Given the description of an element on the screen output the (x, y) to click on. 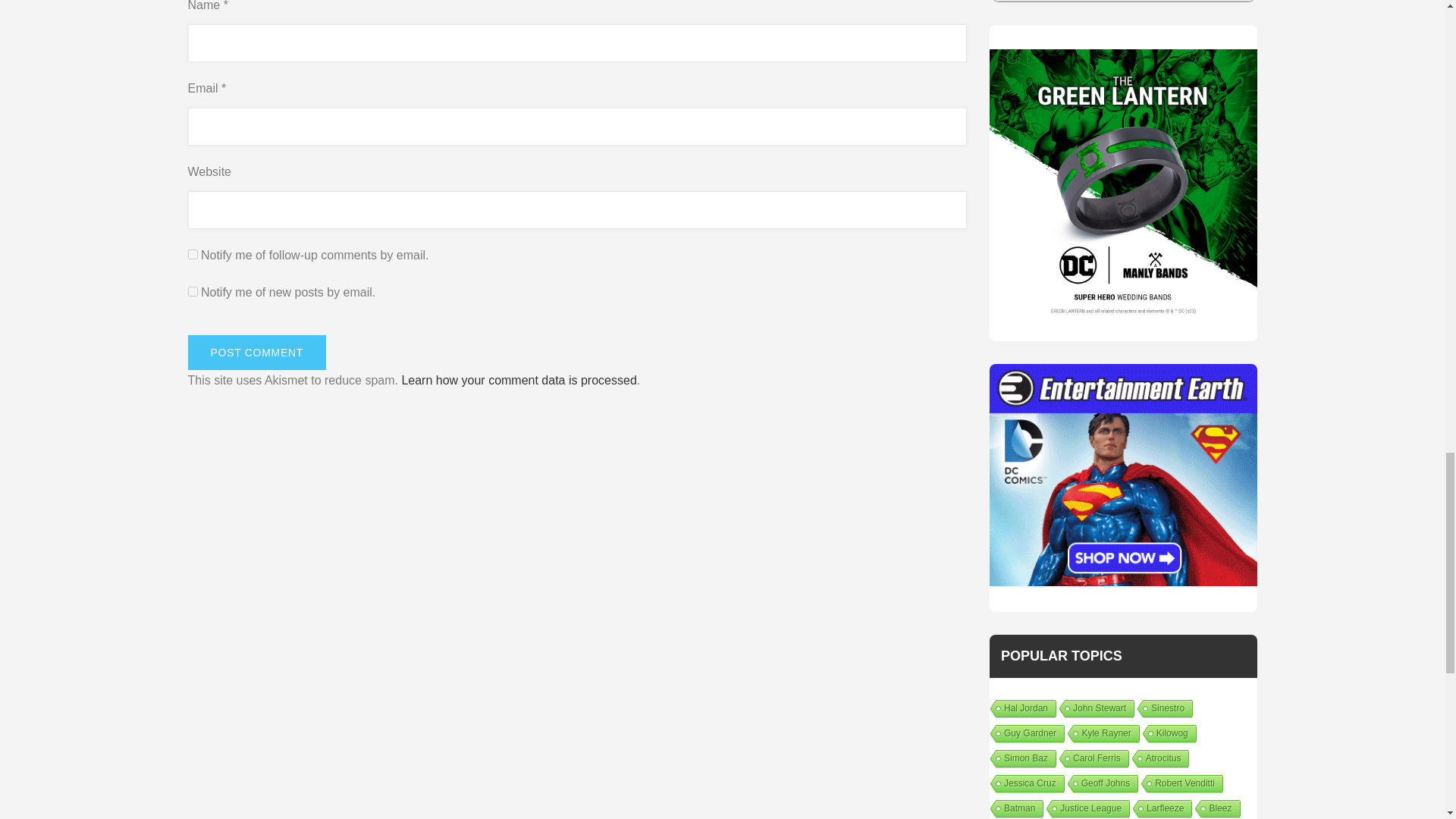
subscribe (192, 291)
Post Comment (256, 352)
subscribe (192, 254)
